Given the description of an element on the screen output the (x, y) to click on. 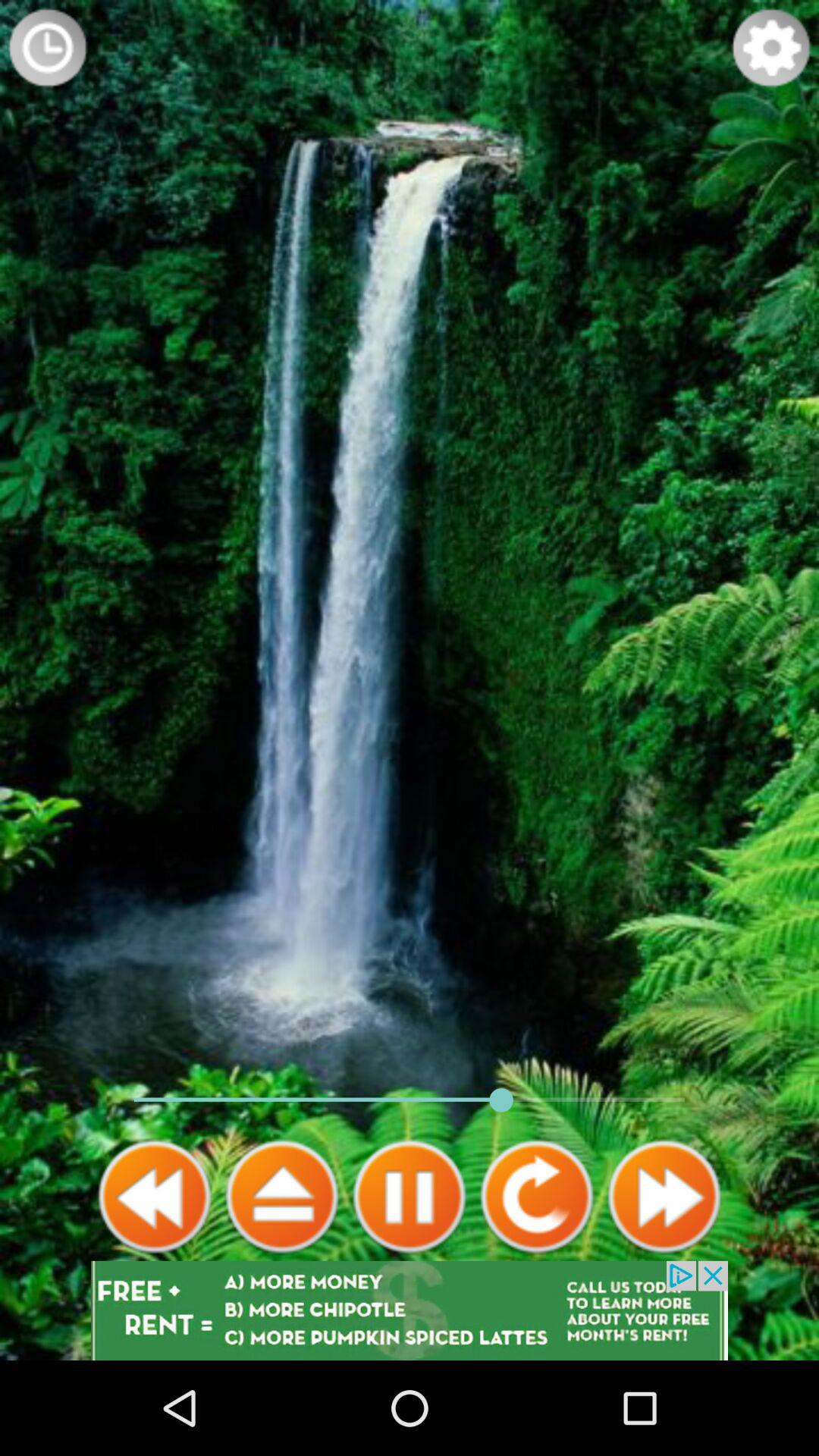
go to next (664, 1196)
